Given the description of an element on the screen output the (x, y) to click on. 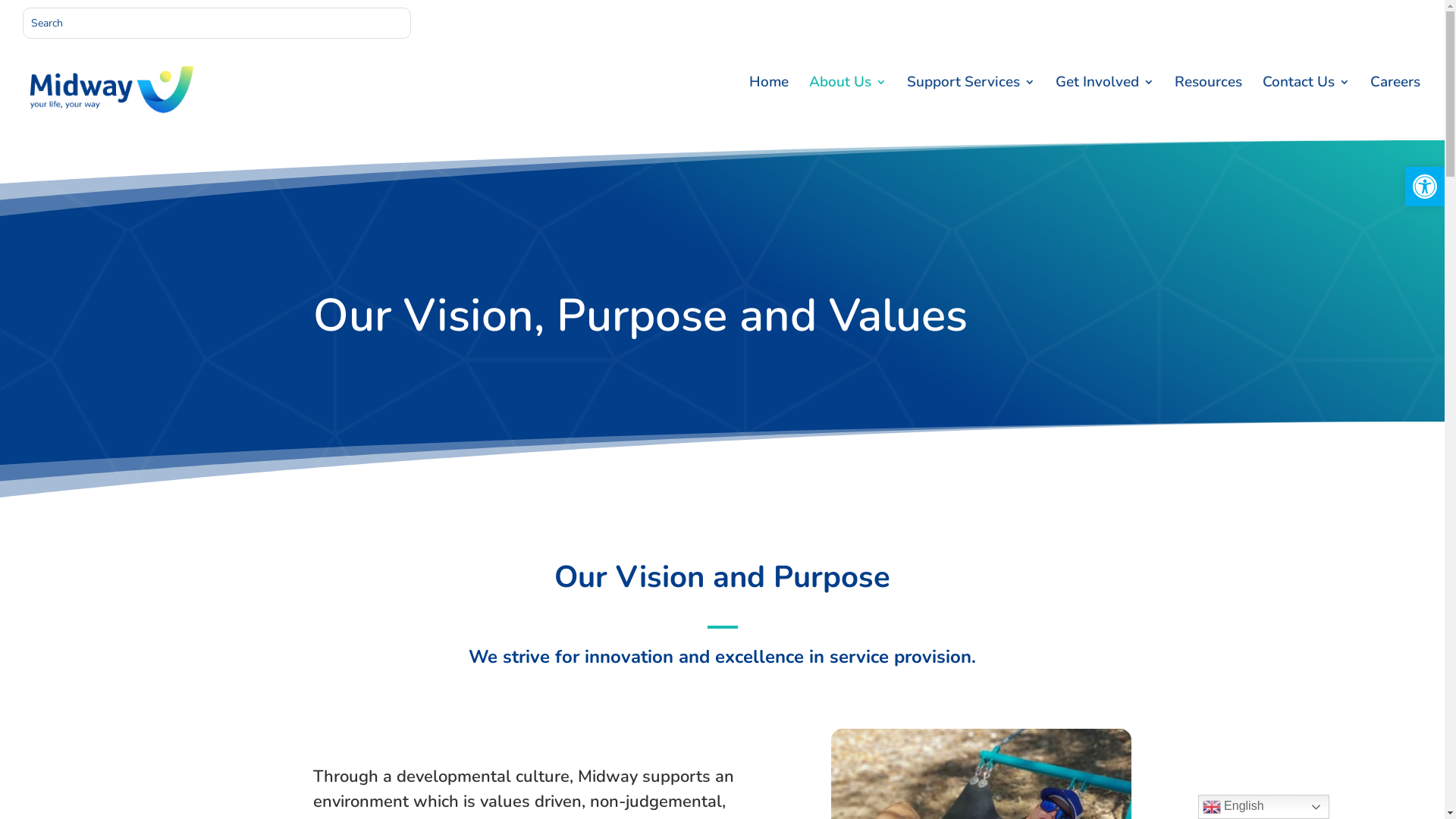
Open toolbar Element type: text (1424, 186)
Contact Us Element type: text (1305, 108)
Search Element type: text (23, 14)
Resources Element type: text (1208, 108)
Support Services Element type: text (970, 108)
About Us Element type: text (847, 108)
Home Element type: text (768, 108)
Careers Element type: text (1395, 108)
Get Involved Element type: text (1104, 108)
